Given the description of an element on the screen output the (x, y) to click on. 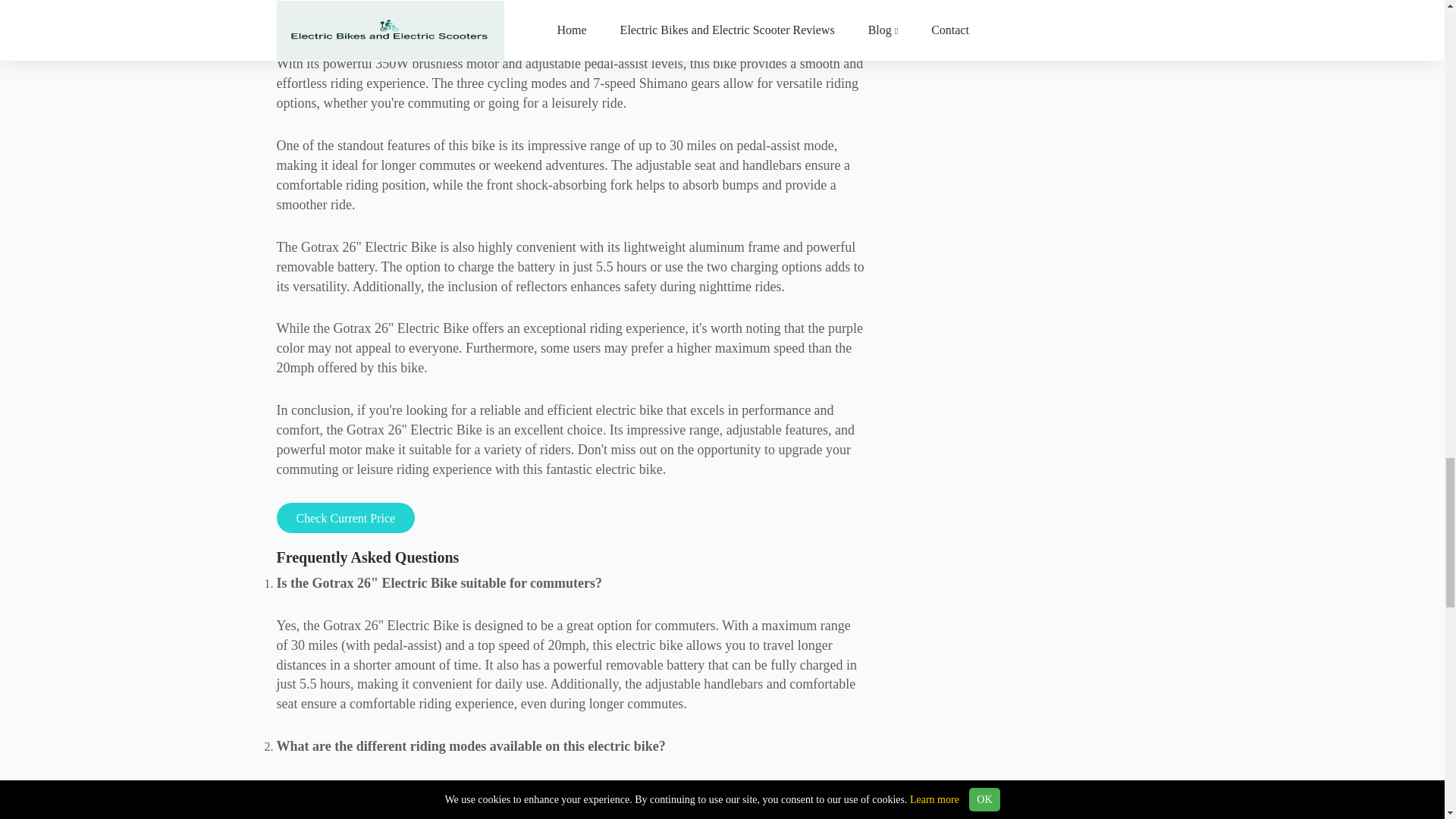
Check Current Price (345, 517)
